Given the description of an element on the screen output the (x, y) to click on. 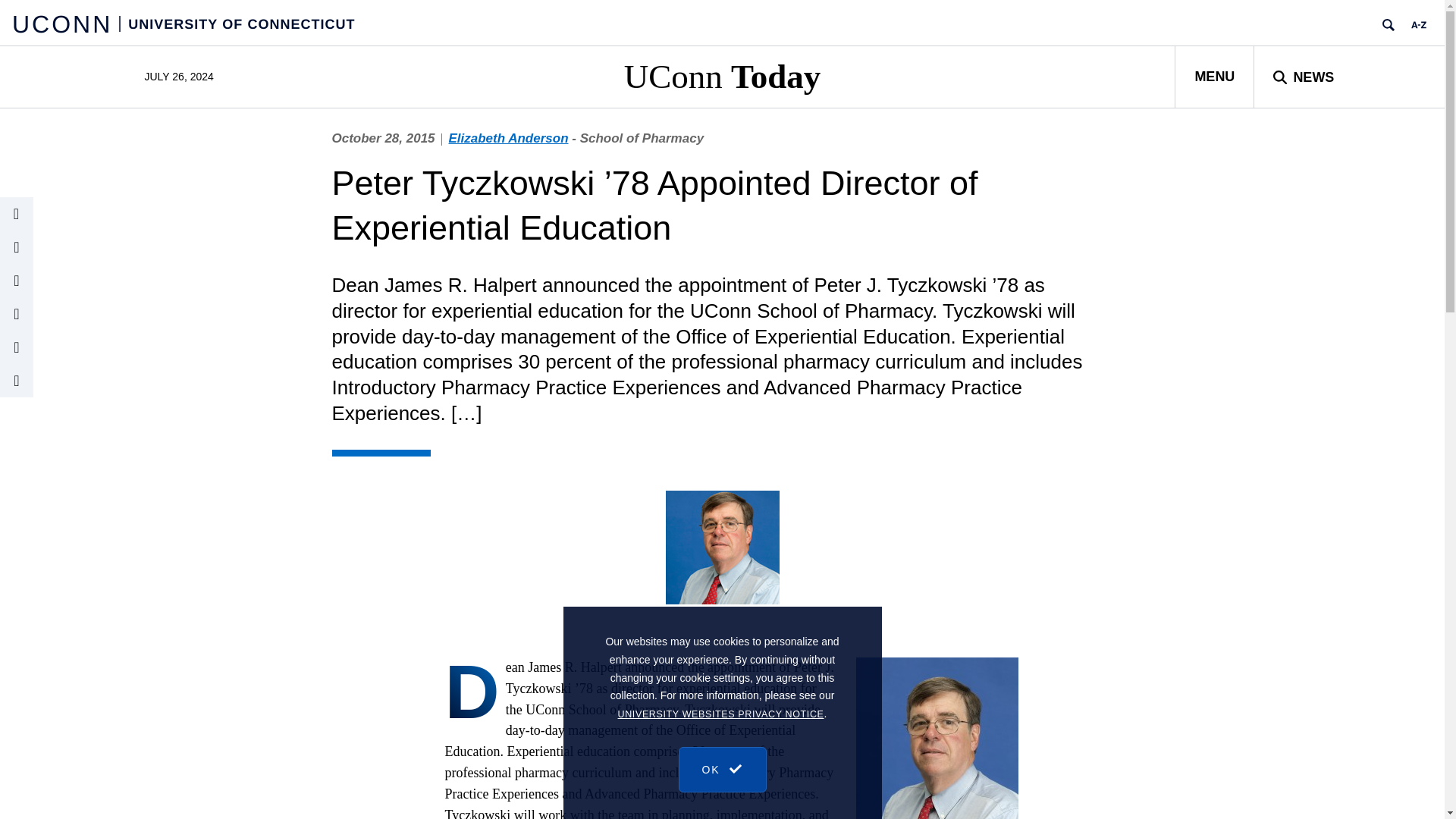
UCONN UNIVERSITY OF CONNECTICUT (183, 22)
UConn A to Z Search (1418, 24)
Search UConn (1387, 24)
Copy link to article (16, 213)
NEWS (1302, 76)
Search UConn Today News (1302, 76)
Email article (16, 246)
MENU (1213, 76)
UConn Today (722, 75)
Share on Reddit (16, 380)
Share on Facebook (16, 346)
Share on LinkedIn (16, 313)
Elizabeth Anderson (507, 138)
Share on Twitter (16, 280)
Open Menu (1213, 76)
